Given the description of an element on the screen output the (x, y) to click on. 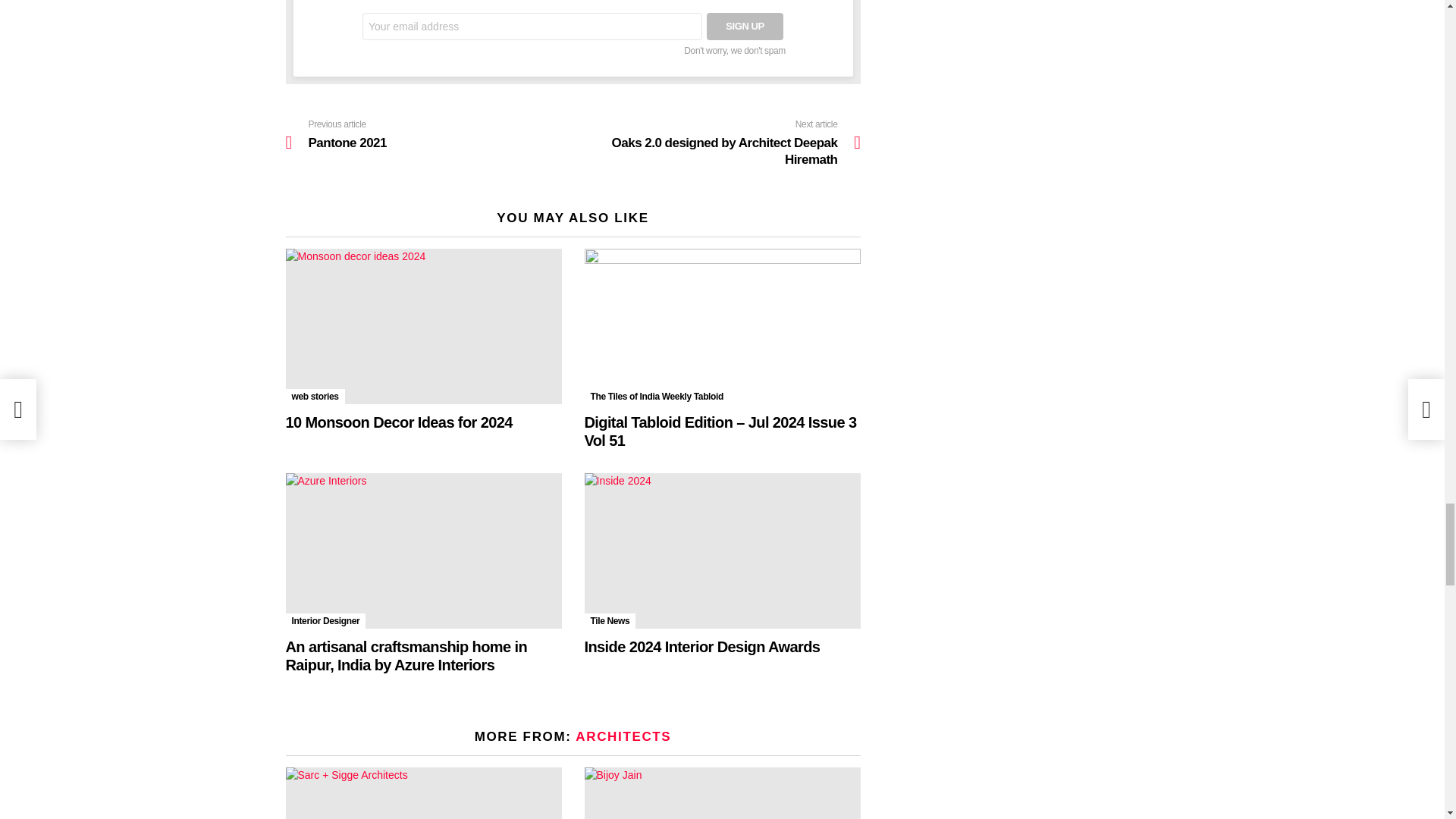
Sign up (744, 26)
